Given the description of an element on the screen output the (x, y) to click on. 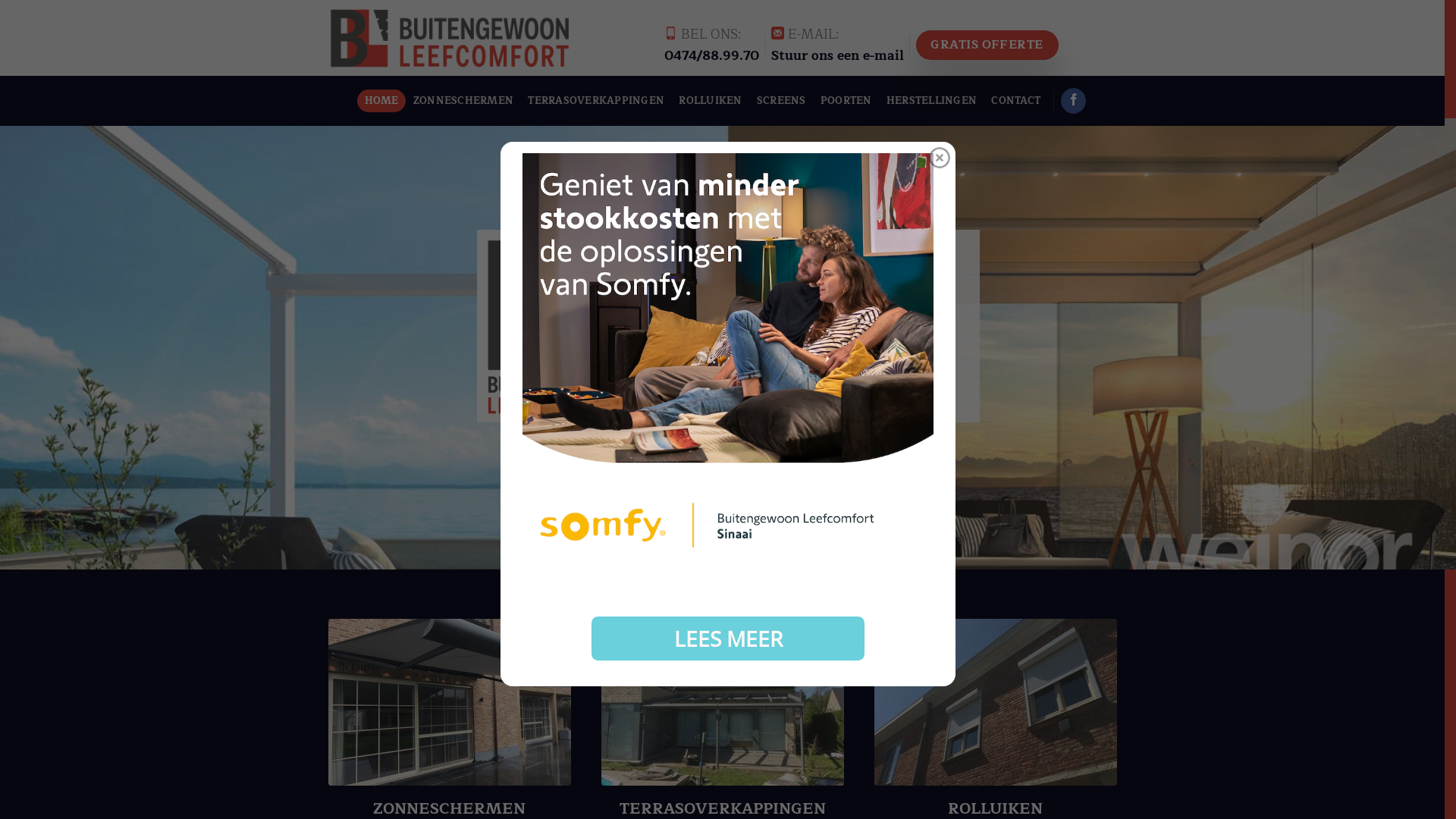
Skip to content Element type: text (0, 0)
SCREENS Element type: text (780, 100)
Stuur ons een e-mail Element type: text (836, 54)
ZONNESCHERMEN Element type: text (462, 100)
GRATIS OFFERTE Element type: text (987, 45)
POORTEN Element type: text (845, 100)
HOME Element type: text (381, 100)
terrasoverkapping Element type: hover (721, 701)
HERSTELLINGEN Element type: text (931, 100)
rolluiken Element type: hover (994, 701)
ROLLUIKEN Element type: text (710, 100)
TERRASOVERKAPPINGEN Element type: text (595, 100)
Like ons op Facebook Element type: hover (1072, 100)
CONTACT Element type: text (1016, 100)
zonnewering, zonnescherm Element type: hover (448, 701)
